Given the description of an element on the screen output the (x, y) to click on. 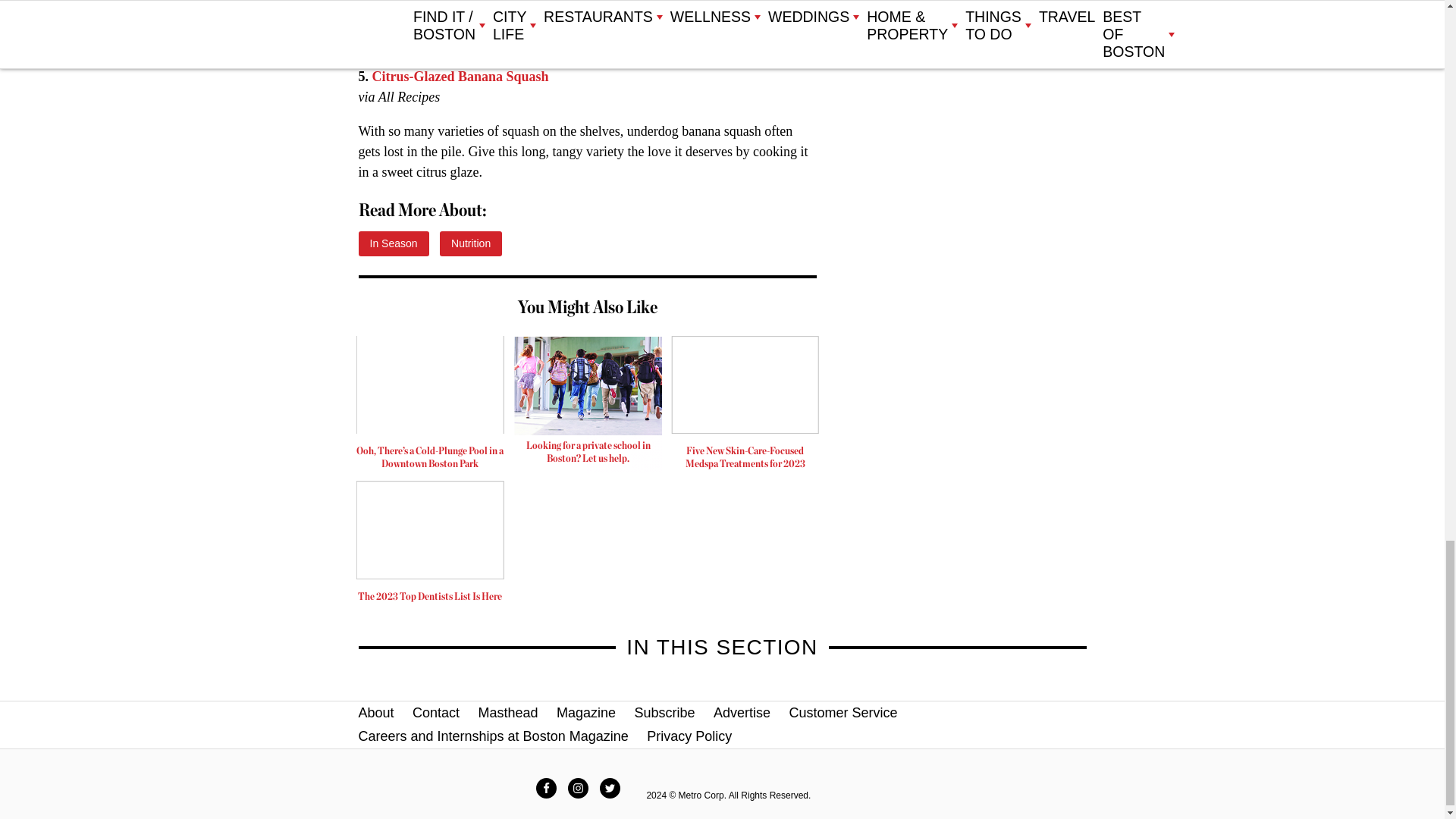
3rd party ad content (587, 403)
